Given the description of an element on the screen output the (x, y) to click on. 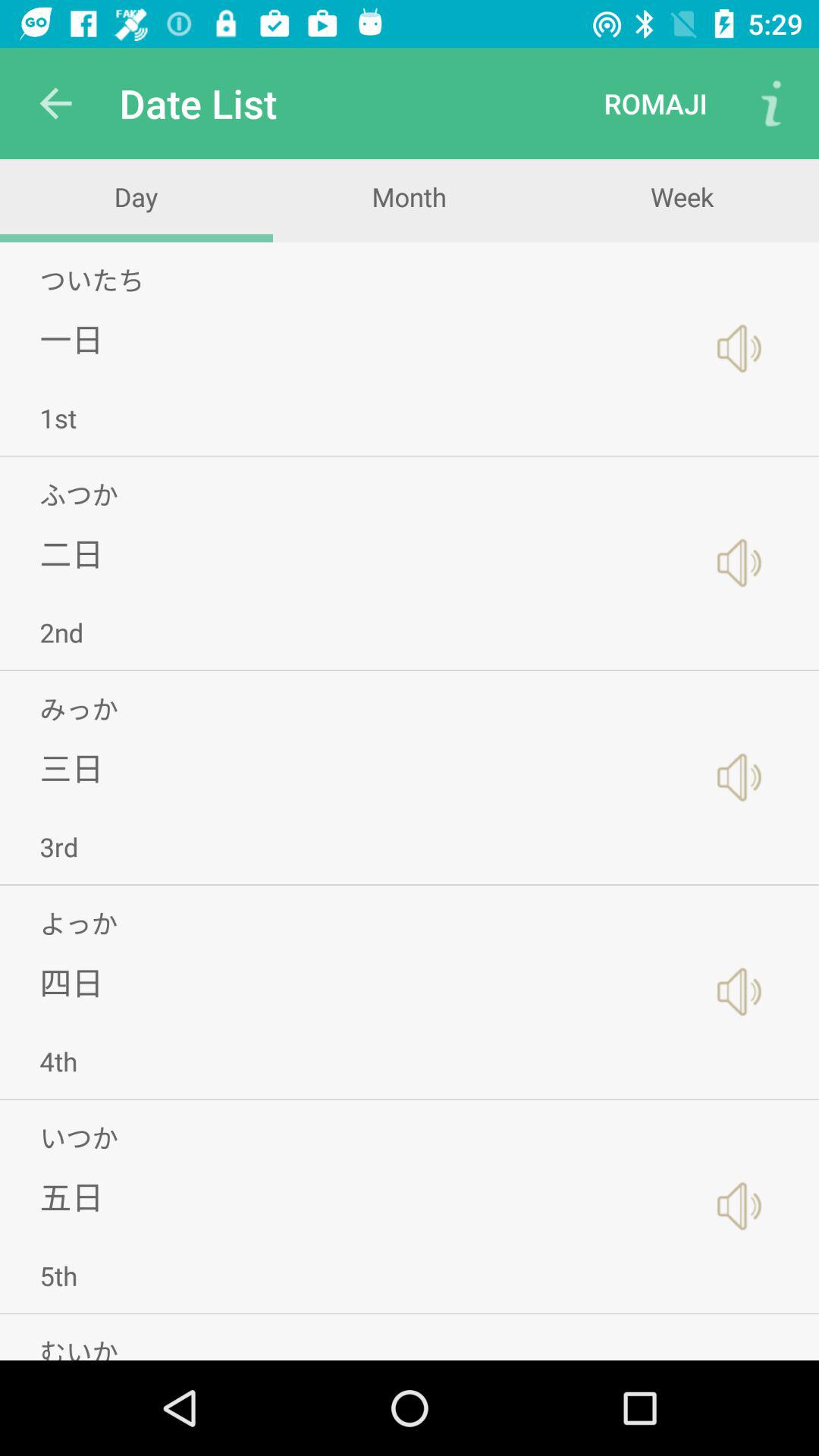
flip to the romaji item (655, 103)
